Given the description of an element on the screen output the (x, y) to click on. 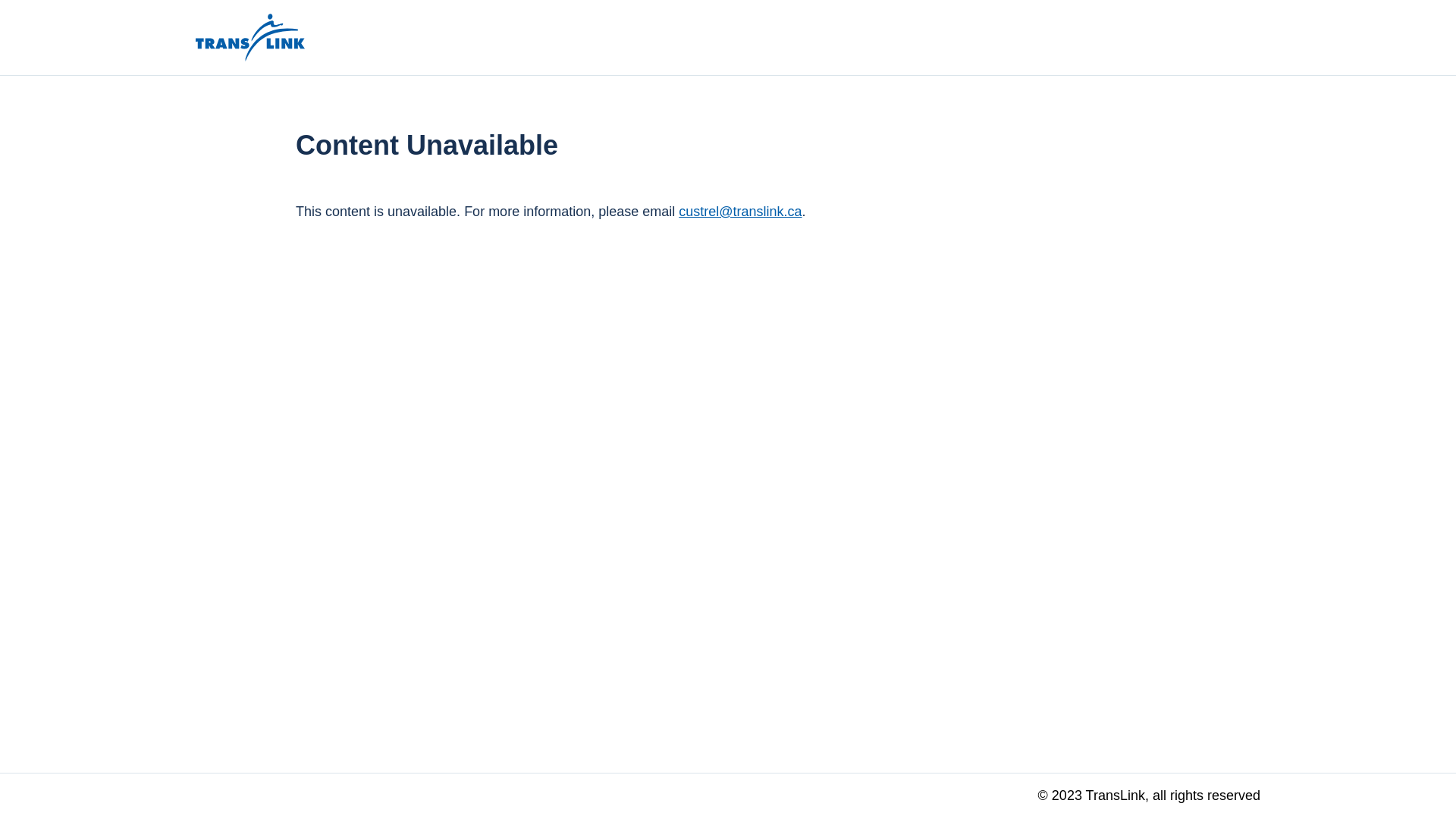
custrel@translink.ca Element type: text (739, 211)
Link to 'Home' page on this site Element type: hover (249, 37)
